Given the description of an element on the screen output the (x, y) to click on. 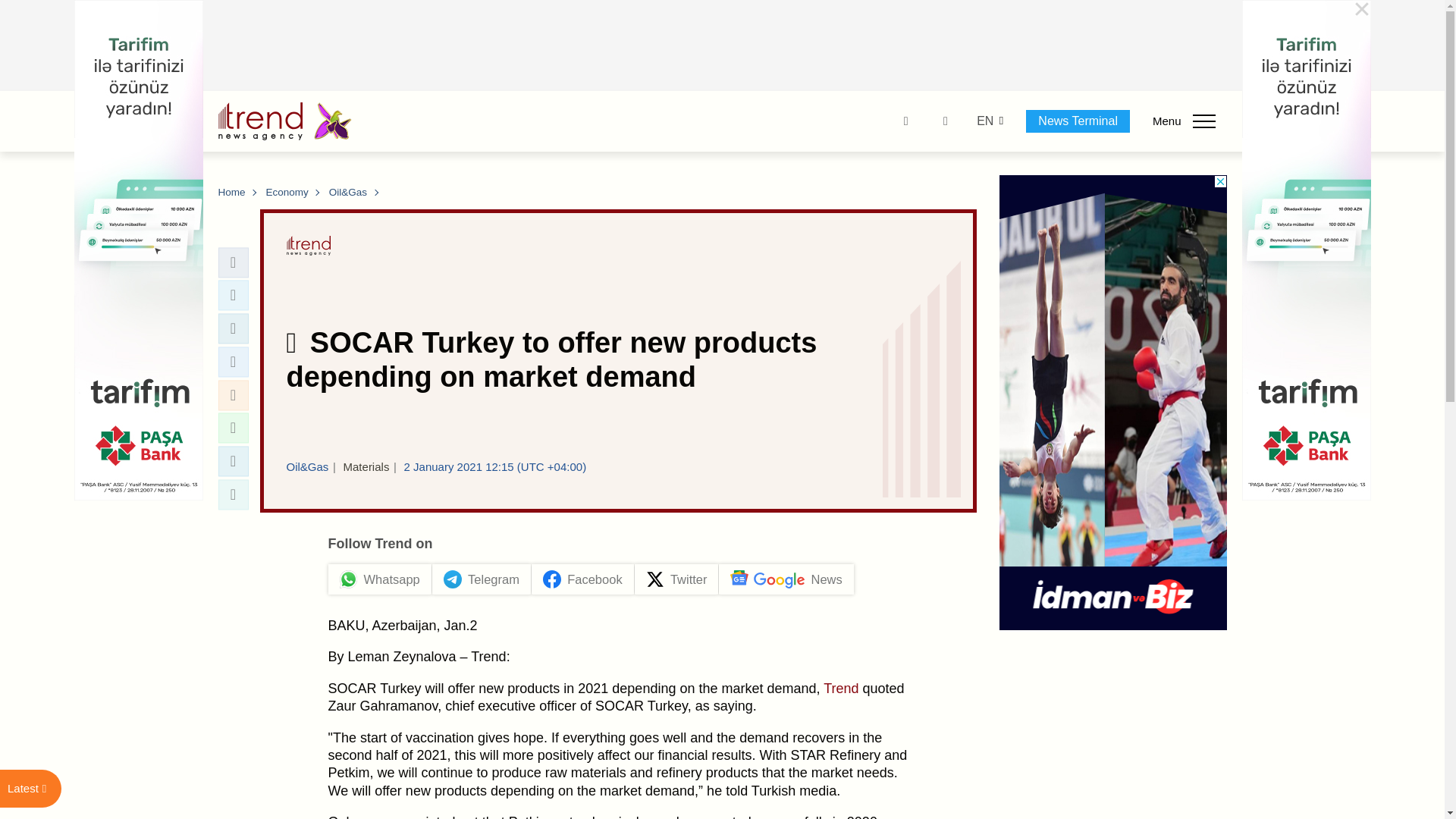
News Terminal (1077, 120)
English (984, 121)
EN (984, 121)
3rd party ad content (722, 45)
